Given the description of an element on the screen output the (x, y) to click on. 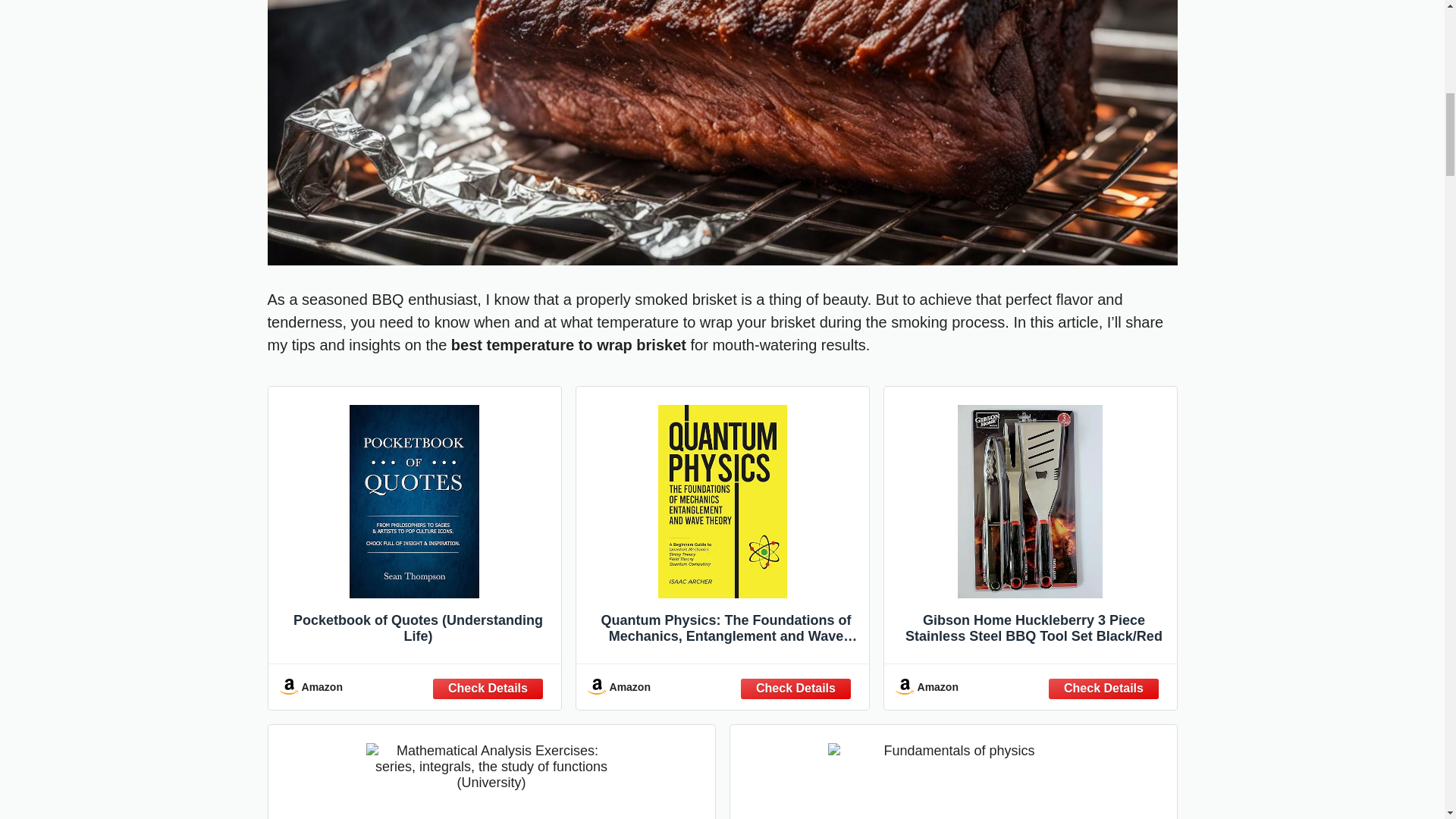
Amazon (413, 686)
Amazon (1029, 686)
Fundamentals of physics (952, 777)
Amazon (721, 686)
